Given the description of an element on the screen output the (x, y) to click on. 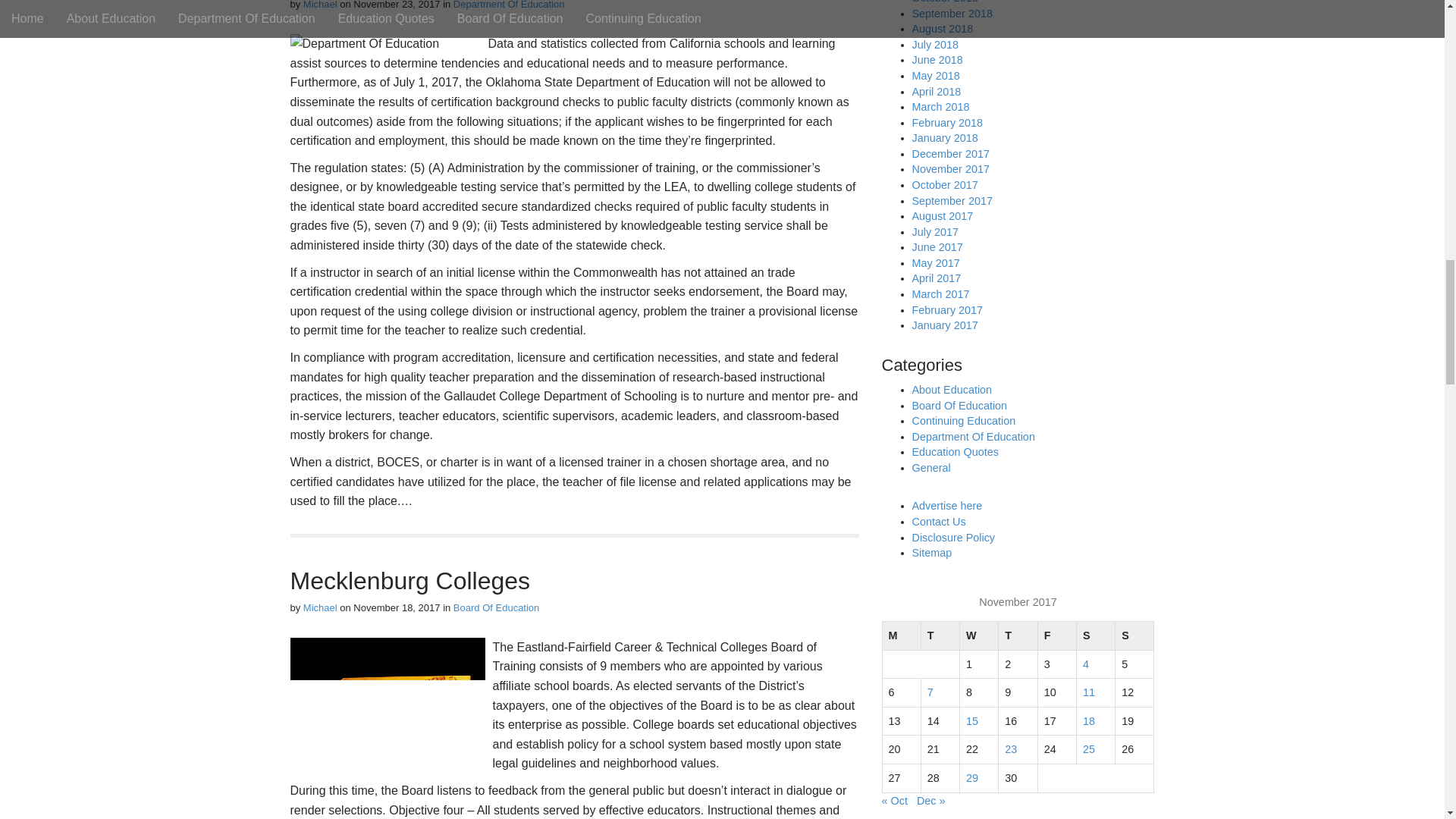
Posts by Michael (319, 607)
Wednesday (978, 635)
Department Of Education (508, 4)
November 18, 2017 (396, 607)
November 23, 2017 (396, 4)
Posts by Michael (319, 4)
Monday (901, 635)
Mecklenburg Colleges (409, 580)
Board Of Education (495, 607)
Friday (1055, 635)
Michael (319, 4)
Michael (319, 607)
Saturday (1095, 635)
Thursday (1017, 635)
Sunday (1134, 635)
